Given the description of an element on the screen output the (x, y) to click on. 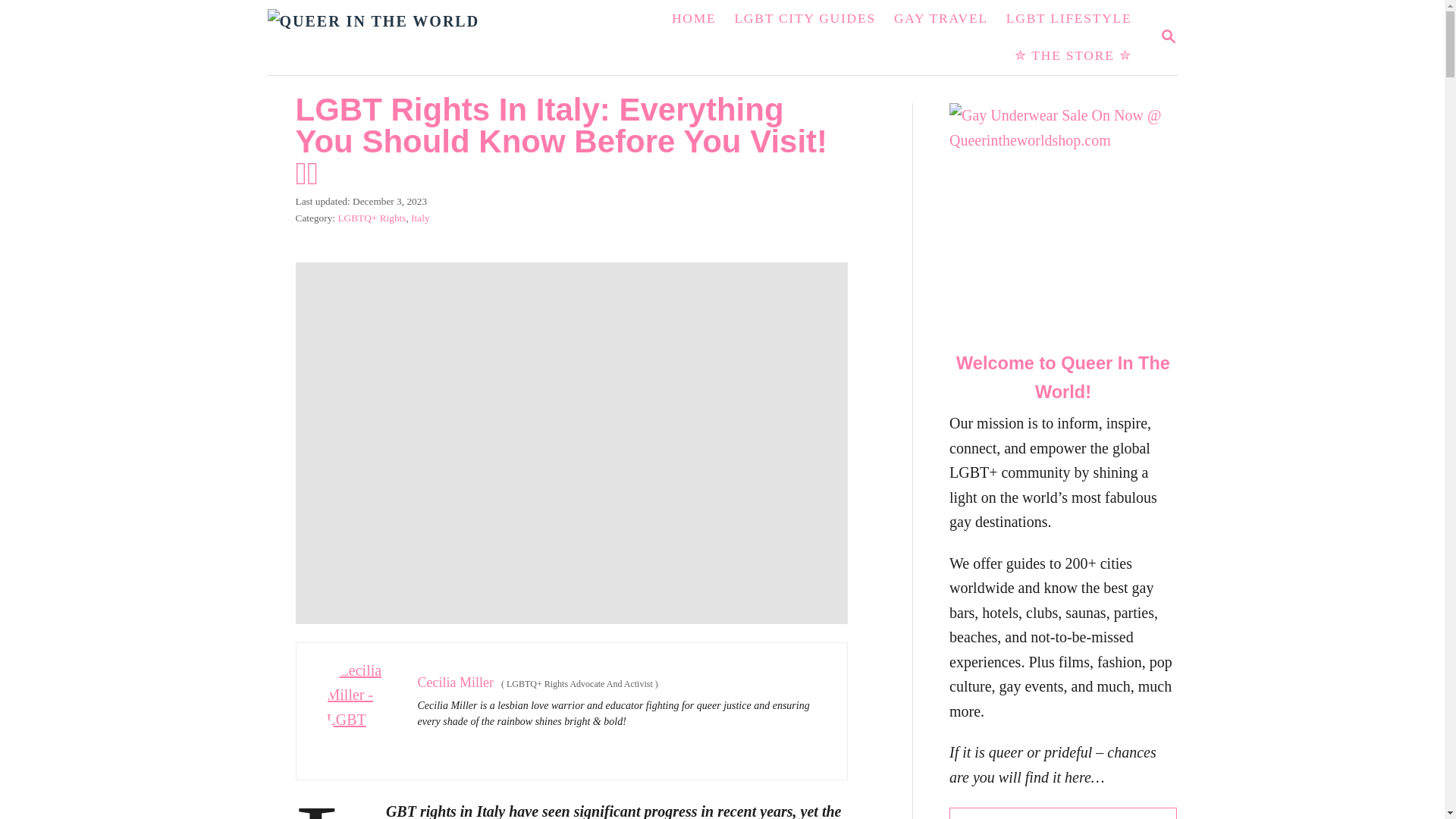
Queer In The World (403, 37)
MAGNIFYING GLASS (1167, 36)
LGBT CITY GUIDES (804, 18)
Search for: (1062, 813)
HOME (1167, 37)
